Given the description of an element on the screen output the (x, y) to click on. 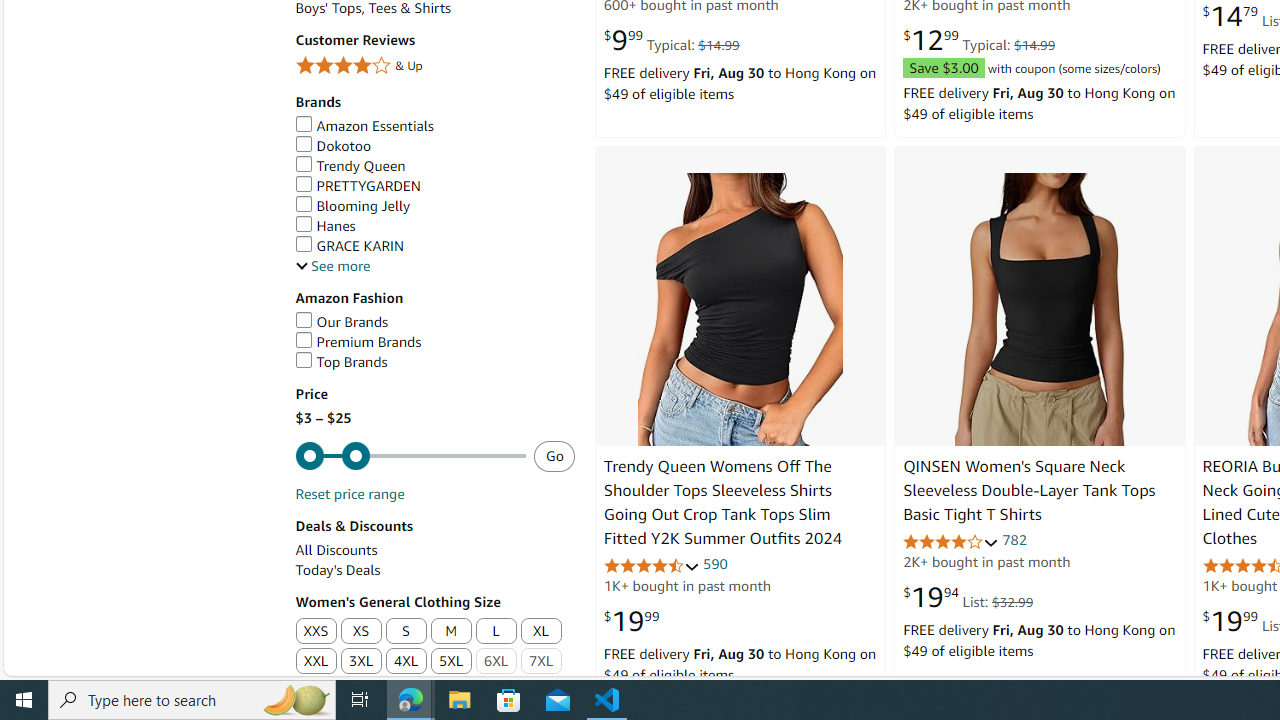
XXL (315, 662)
PRETTYGARDEN (357, 185)
XS (360, 631)
XS (362, 632)
Hanes (434, 226)
Premium Brands (358, 341)
XXS (316, 632)
Minimum (410, 456)
PRETTYGARDEN (434, 186)
7XL (541, 662)
Hanes (324, 226)
Blooming Jelly (434, 206)
4 Stars & Up (434, 66)
Our Brands (434, 322)
M (451, 631)
